Given the description of an element on the screen output the (x, y) to click on. 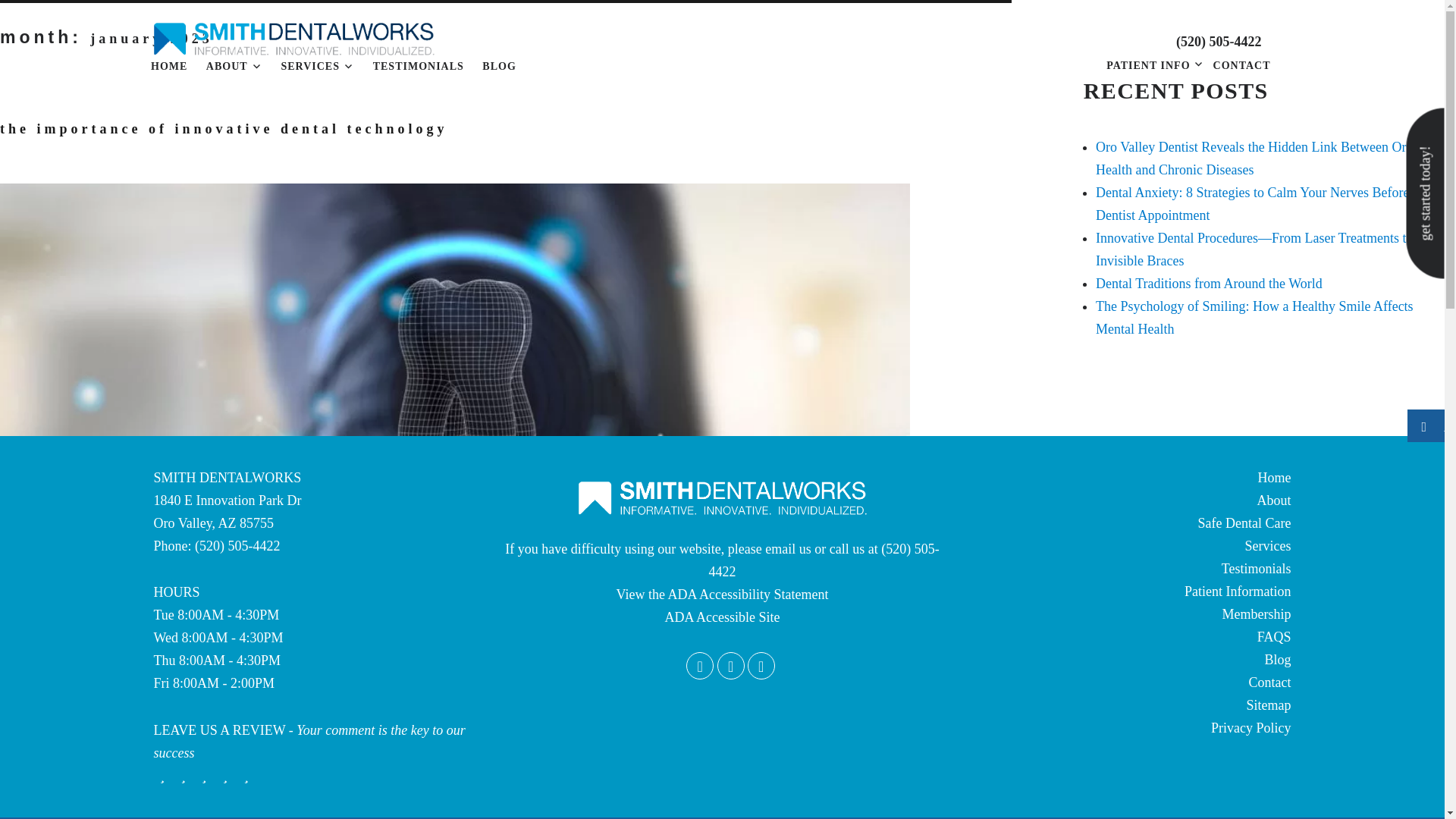
the importance of innovative dental technology (223, 128)
PATIENT INFO (1147, 65)
TESTIMONIALS (417, 67)
ABOUT (234, 67)
HOME (168, 67)
BLOG (499, 67)
CONTACT (1241, 65)
SERVICES (316, 67)
